Given the description of an element on the screen output the (x, y) to click on. 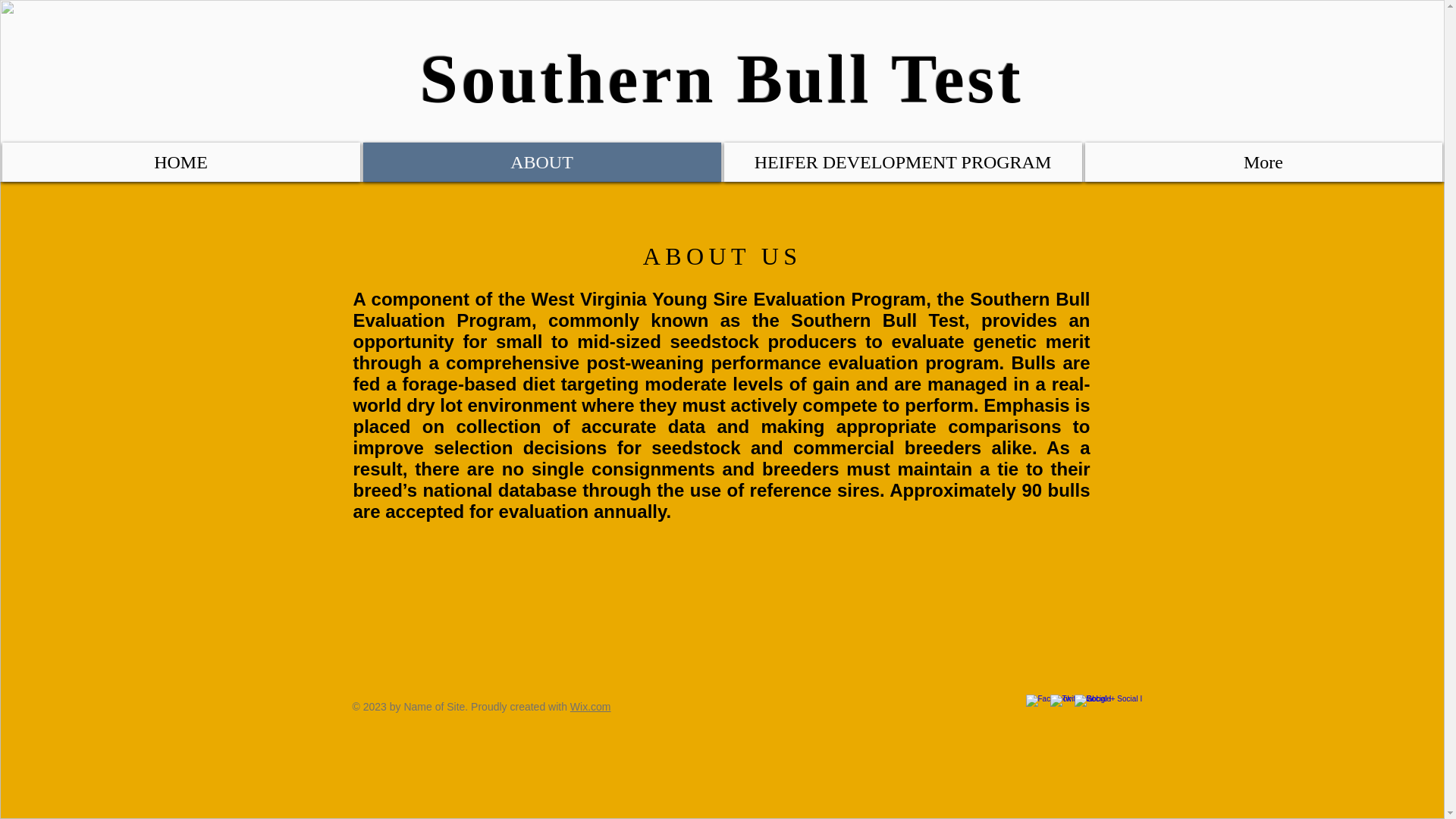
HEIFER DEVELOPMENT PROGRAM (902, 161)
HOME (180, 161)
ABOUT (541, 161)
Southern Bull Test (721, 79)
Wix.com (590, 706)
